Given the description of an element on the screen output the (x, y) to click on. 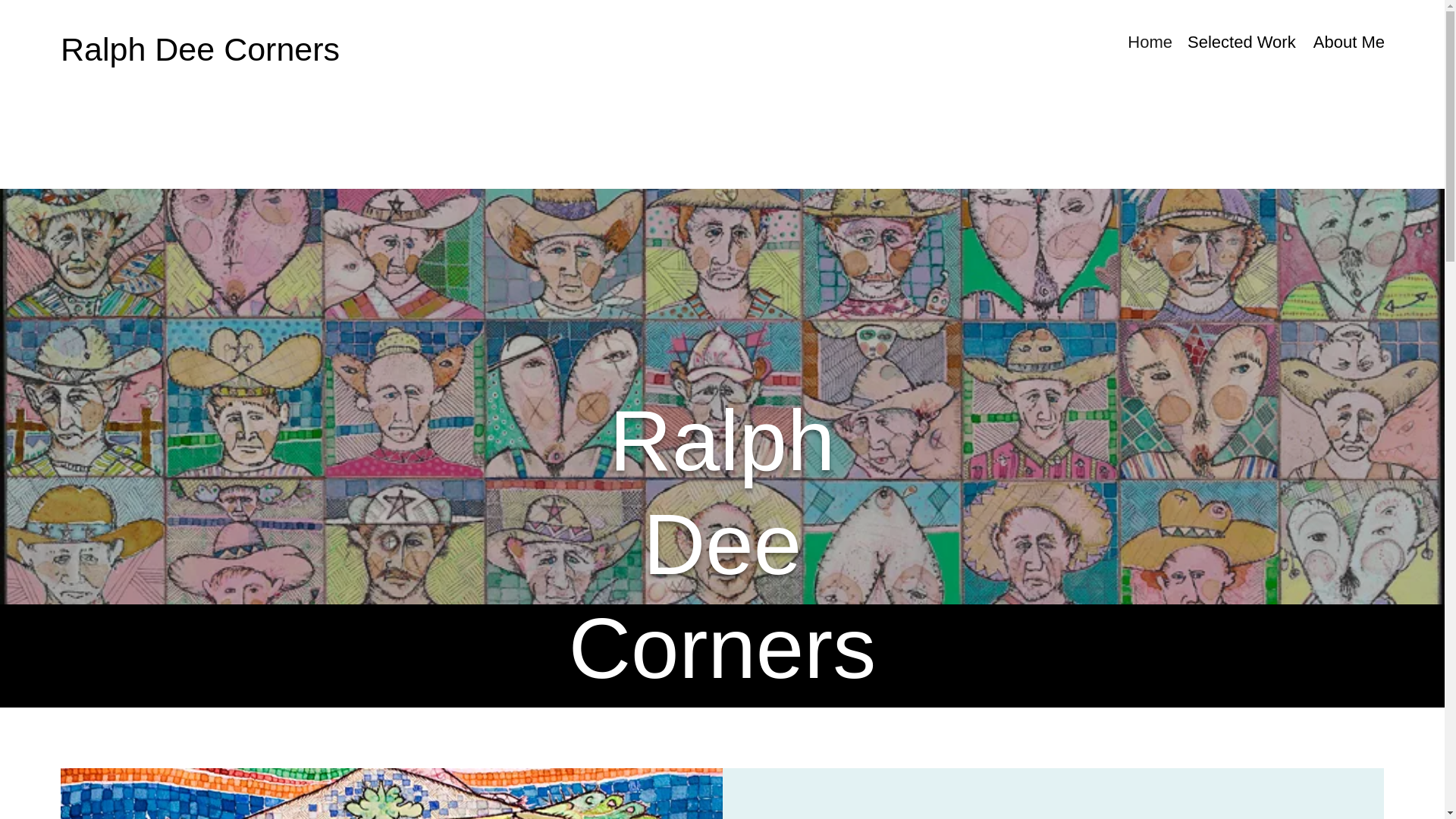
Selected Work (1241, 41)
Home (1149, 41)
Ralph Dee Corners (200, 49)
About Me (1347, 41)
